Given the description of an element on the screen output the (x, y) to click on. 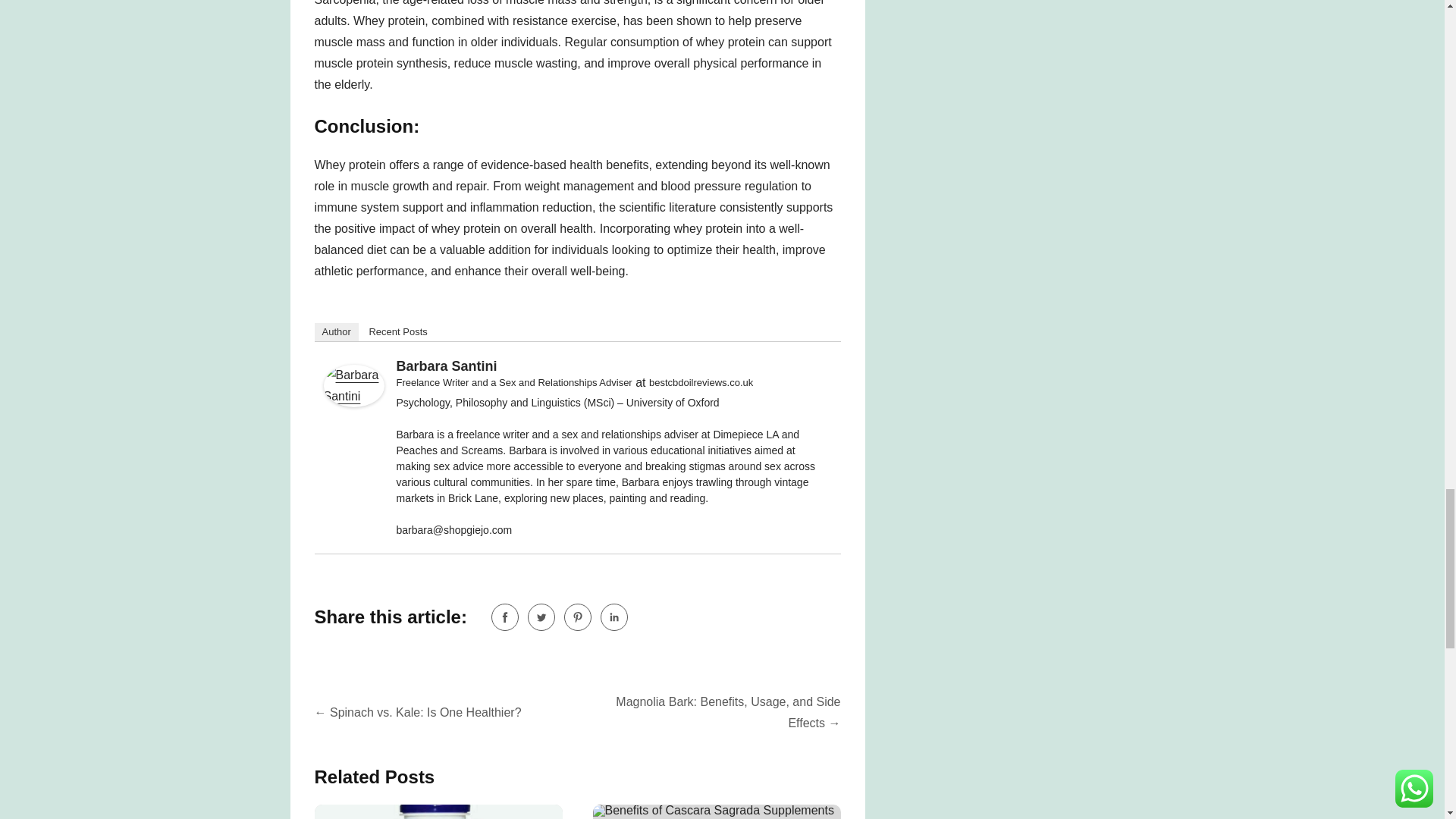
bestcbdoilreviews.co.uk (700, 382)
Author (336, 331)
Barbara Santini (446, 365)
Barbara Santini (353, 402)
Recent Posts (397, 331)
